Given the description of an element on the screen output the (x, y) to click on. 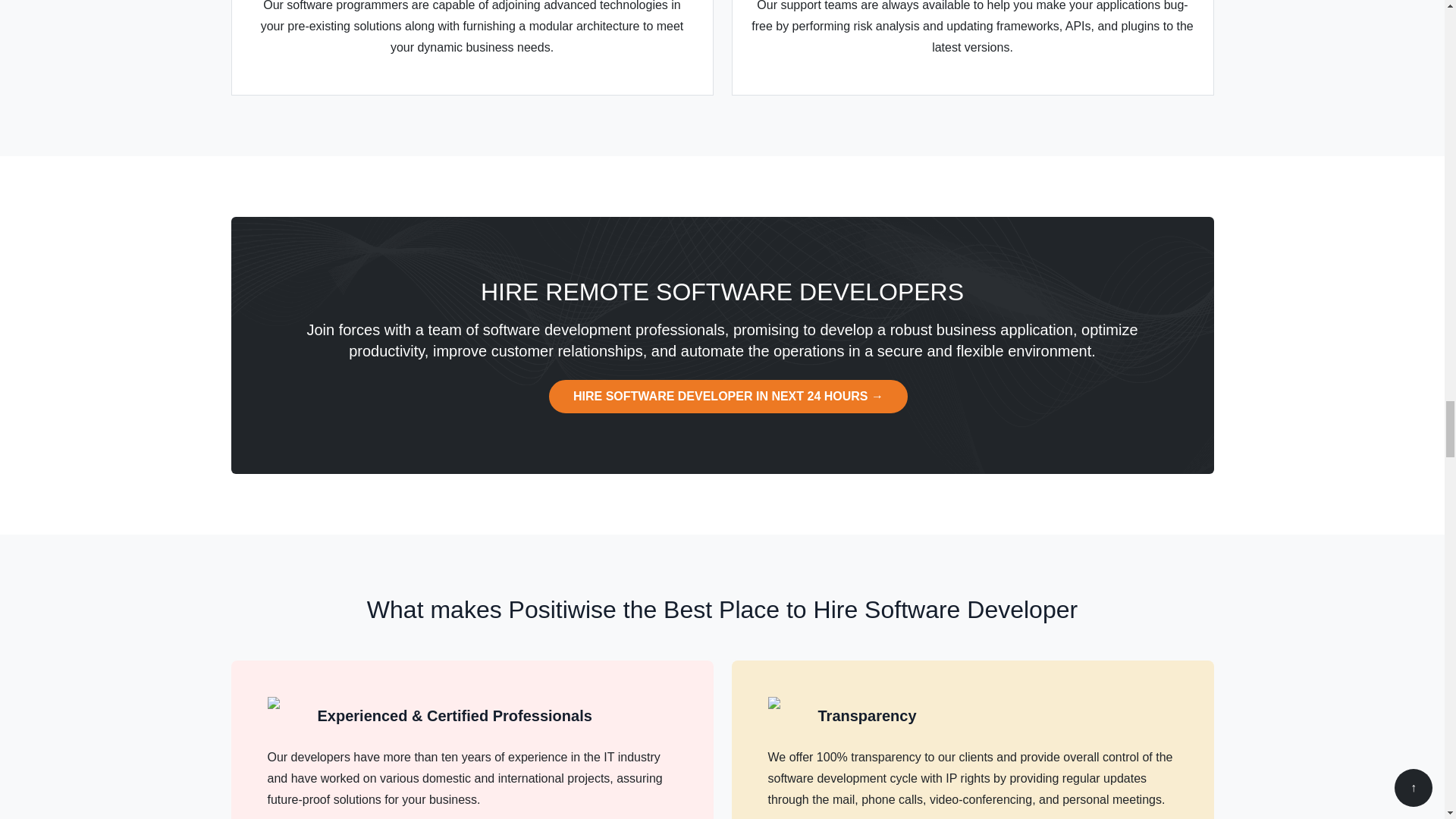
HIRE SOFTWARE DEVELOPER IN NEXT 24 HOURS (727, 396)
